Given the description of an element on the screen output the (x, y) to click on. 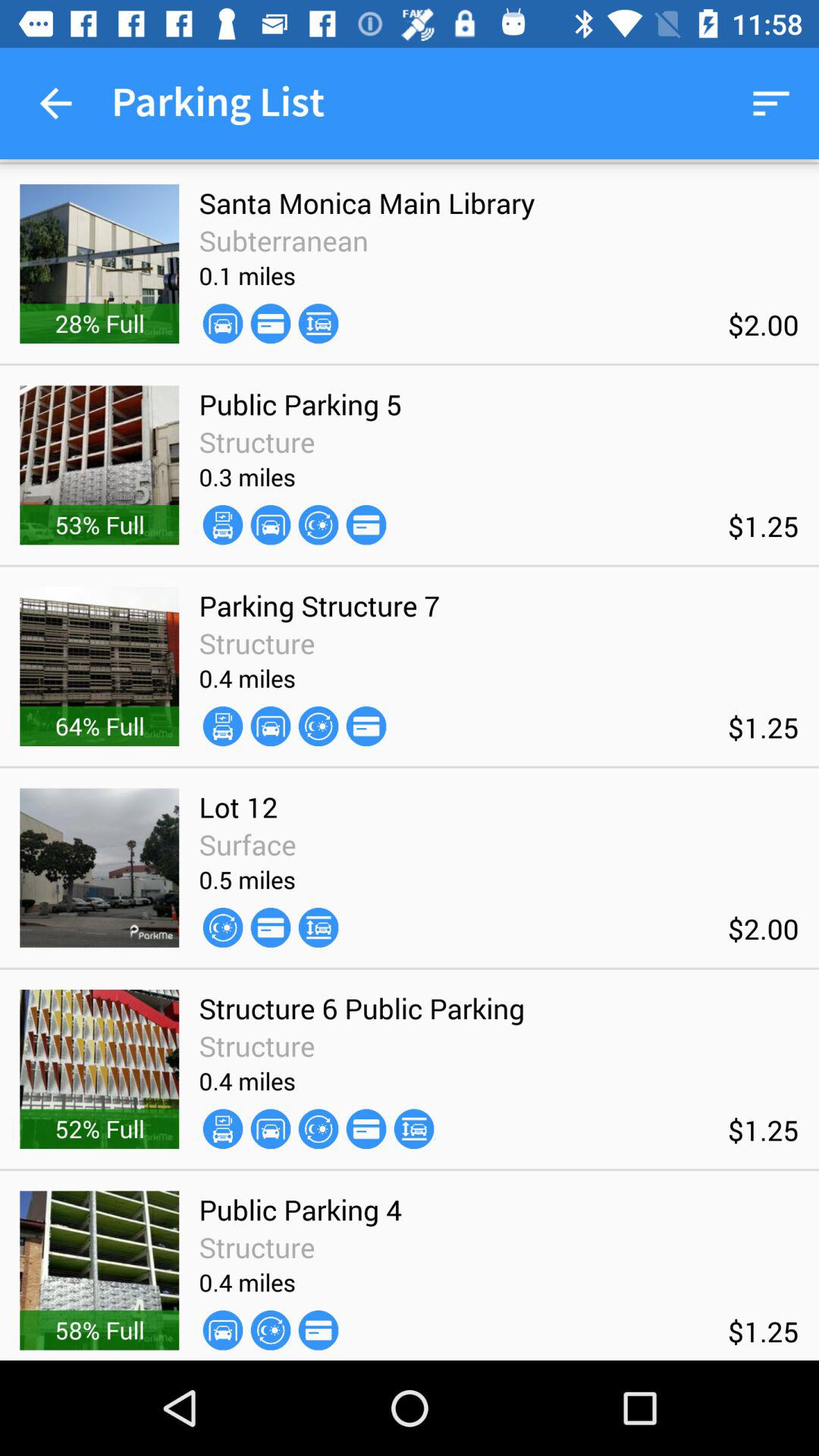
turn on item below 0.4 miles item (270, 1128)
